Given the description of an element on the screen output the (x, y) to click on. 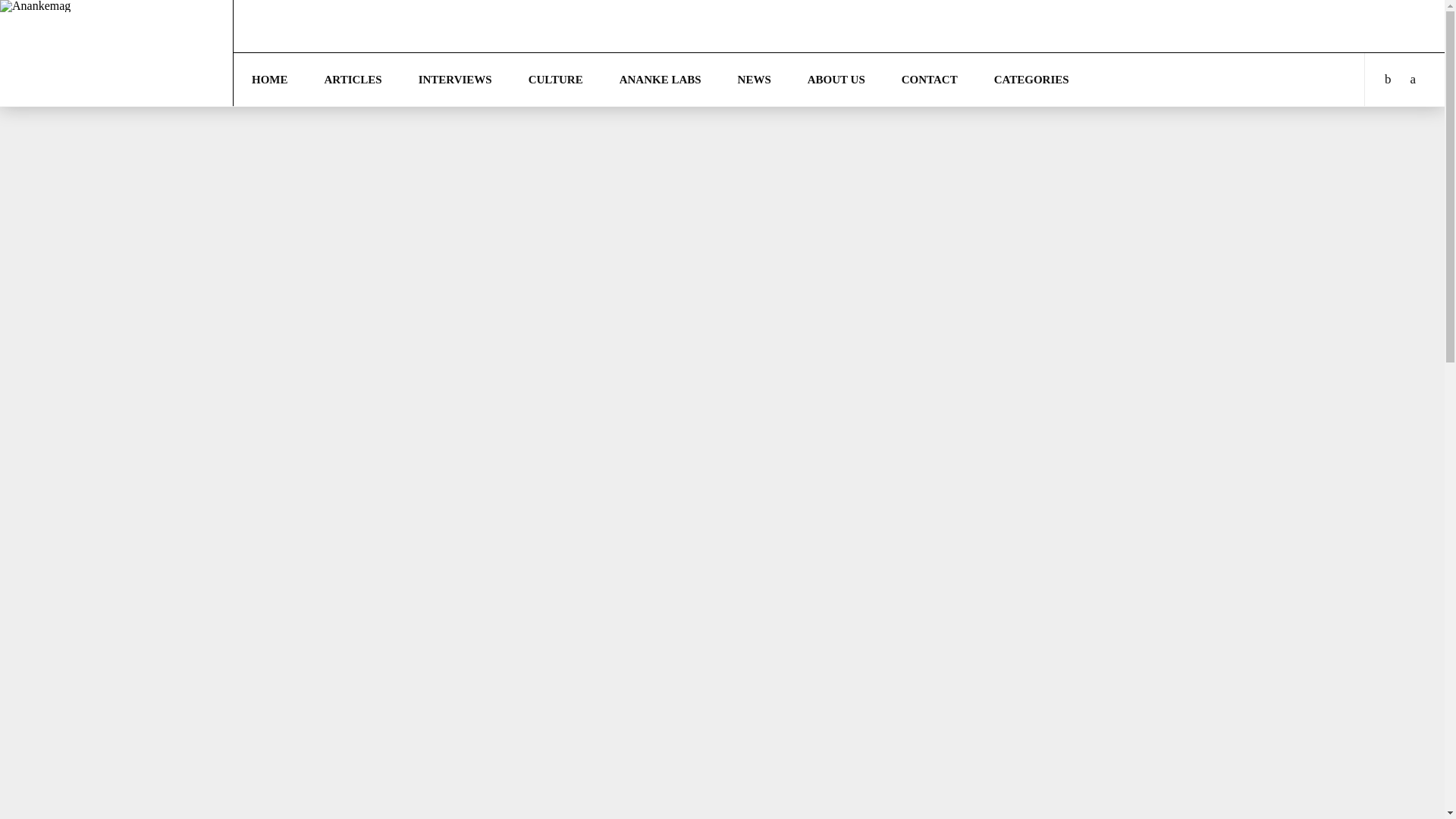
Articles (352, 79)
Home (268, 79)
INTERVIEWS (455, 79)
ARTICLES (352, 79)
HOME (268, 79)
